Given the description of an element on the screen output the (x, y) to click on. 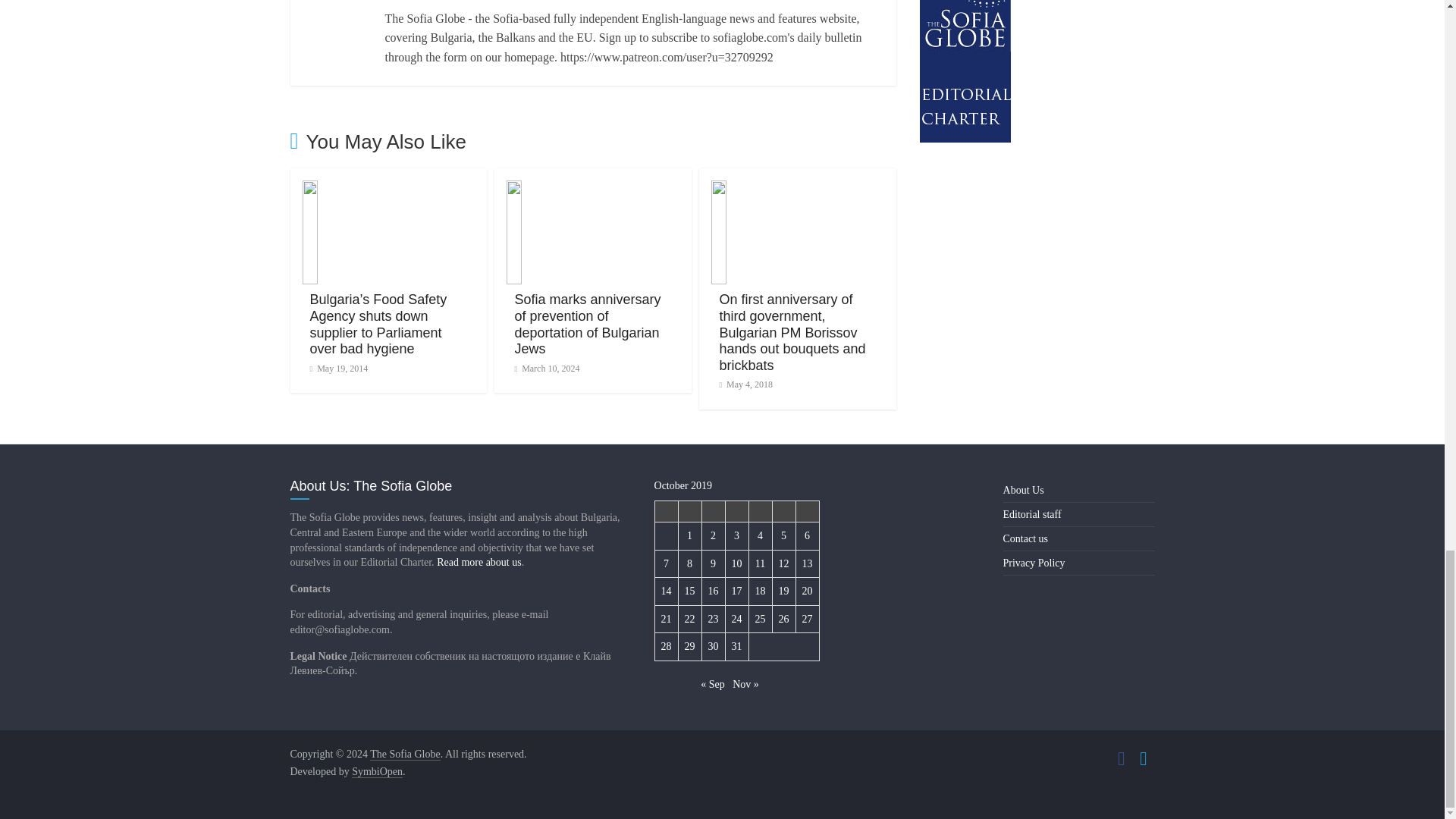
May 19, 2014 (338, 368)
1:15 PM (338, 368)
March 10, 2024 (546, 368)
7:06 PM (546, 368)
May 4, 2018 (746, 384)
